Given the description of an element on the screen output the (x, y) to click on. 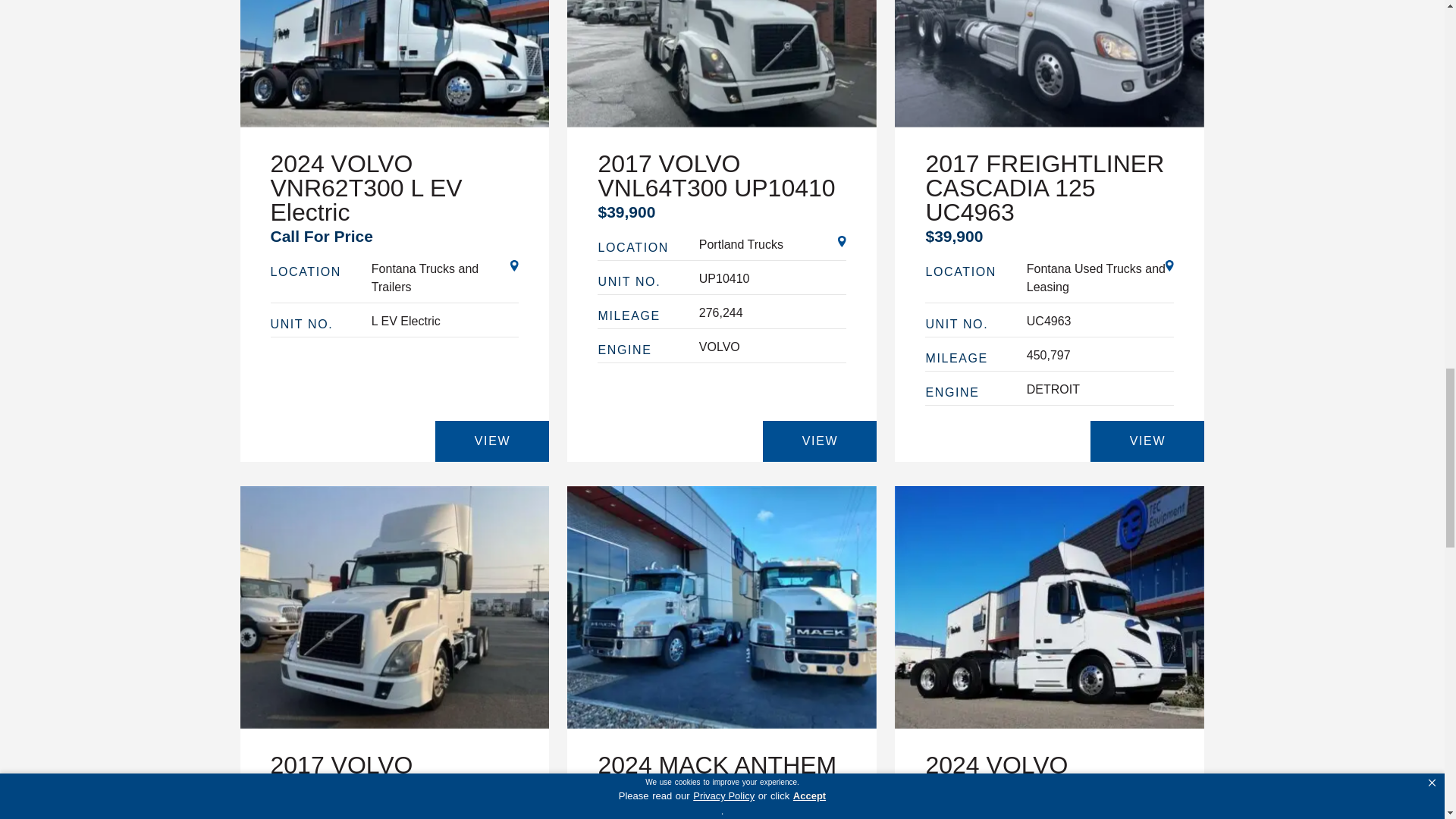
Portland Trucks (772, 244)
VIEW (1147, 440)
VIEW (491, 440)
Fontana Used Trucks and Leasing (1100, 278)
VIEW (819, 440)
Fontana Trucks and Trailers (445, 278)
